Given the description of an element on the screen output the (x, y) to click on. 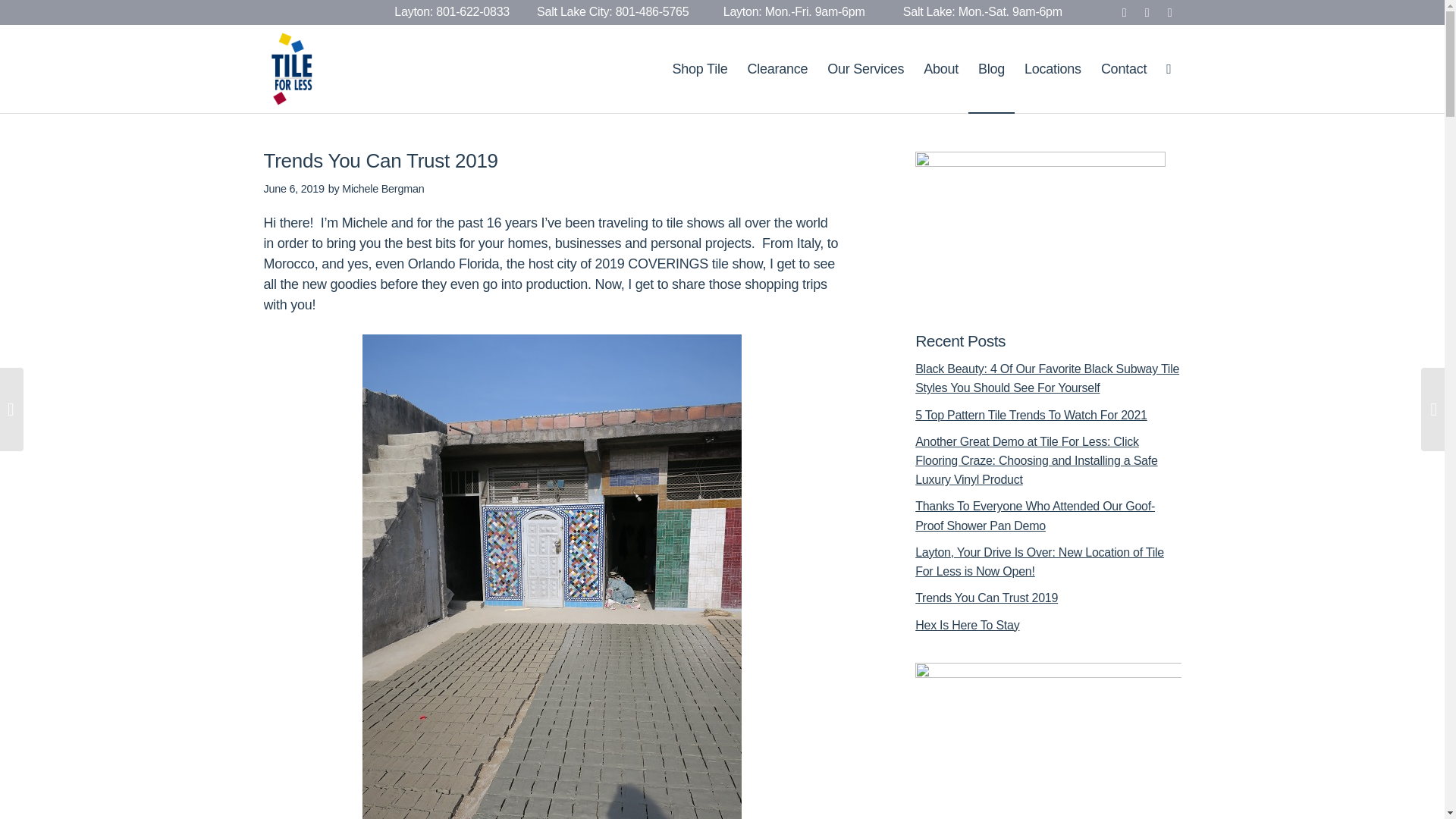
Facebook (1124, 12)
Youtube (1146, 12)
Instagram (1169, 12)
Clearance (776, 69)
801-622-0833 (472, 11)
Posts by Michele Bergman (382, 188)
Our Services (865, 69)
801-486-5765 (651, 11)
